Given the description of an element on the screen output the (x, y) to click on. 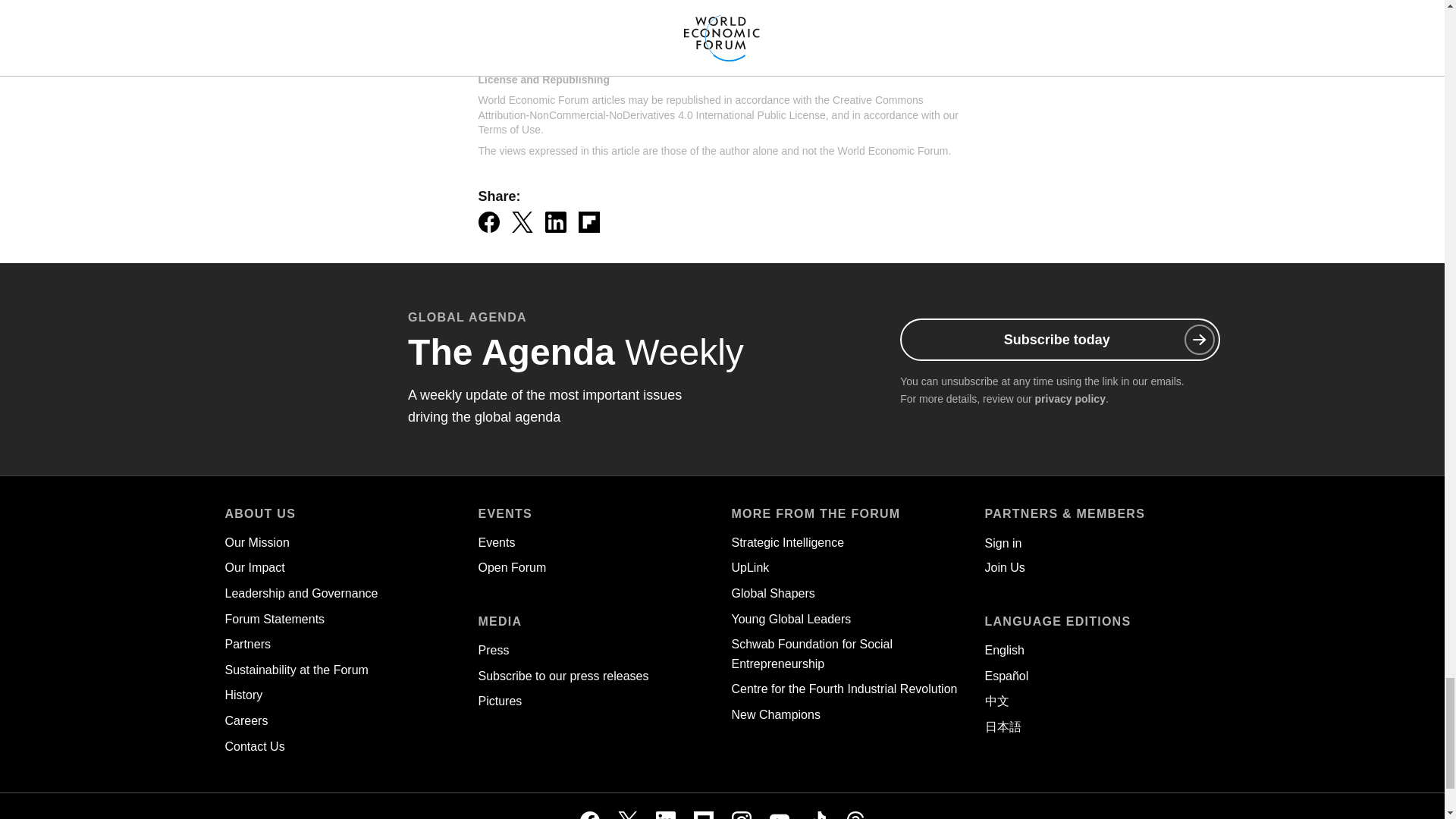
Forum Statements (274, 618)
Subscribe today (1059, 339)
Leadership and Governance (300, 593)
Our Mission (256, 542)
Sign up for free (869, 7)
Our Impact (253, 567)
privacy policy (1070, 398)
